Given the description of an element on the screen output the (x, y) to click on. 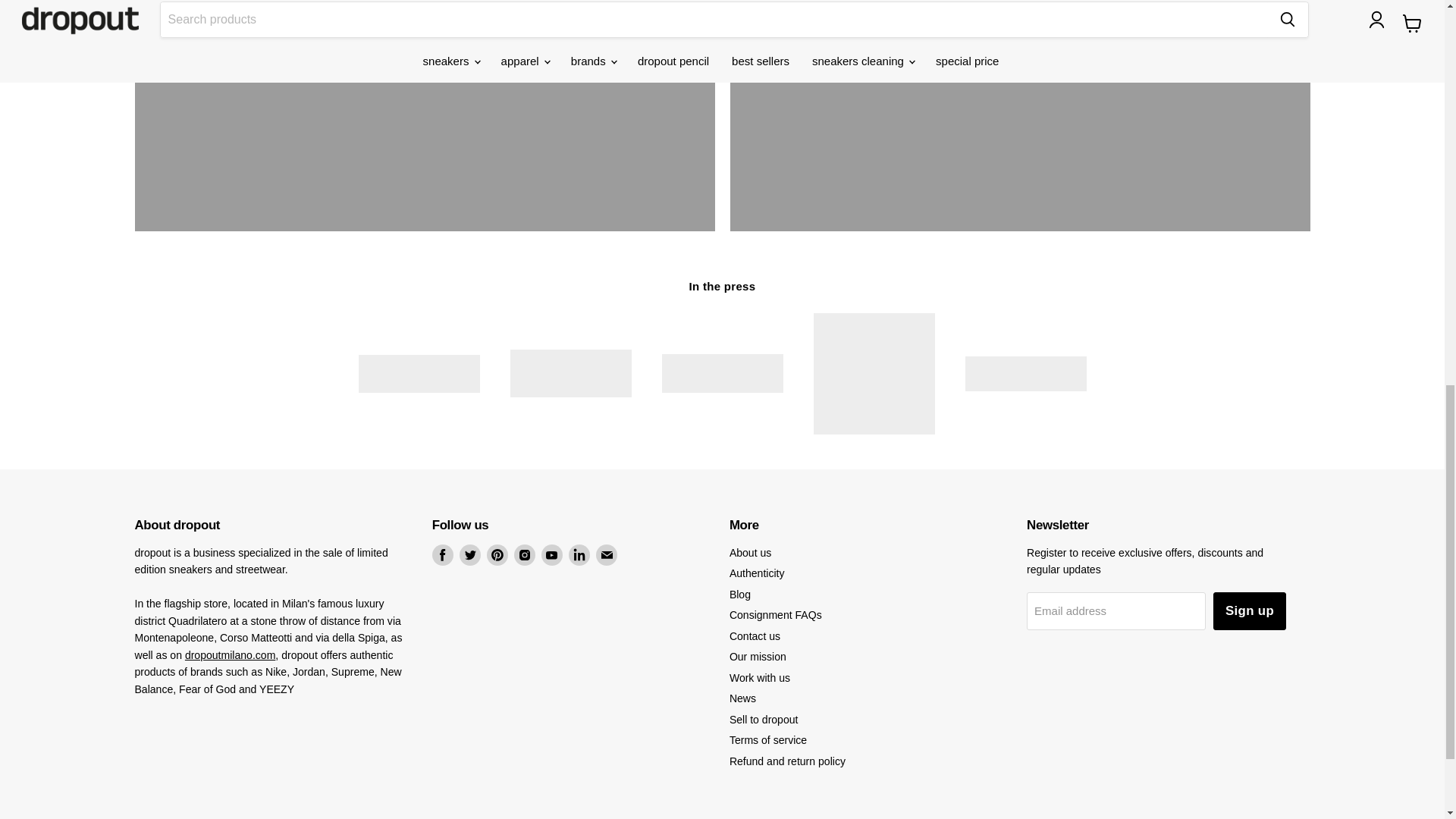
Facebook (442, 554)
LinkedIn (579, 554)
Instagram (524, 554)
Pinterest (497, 554)
Email (606, 554)
Twitter (470, 554)
Youtube (551, 554)
